Given the description of an element on the screen output the (x, y) to click on. 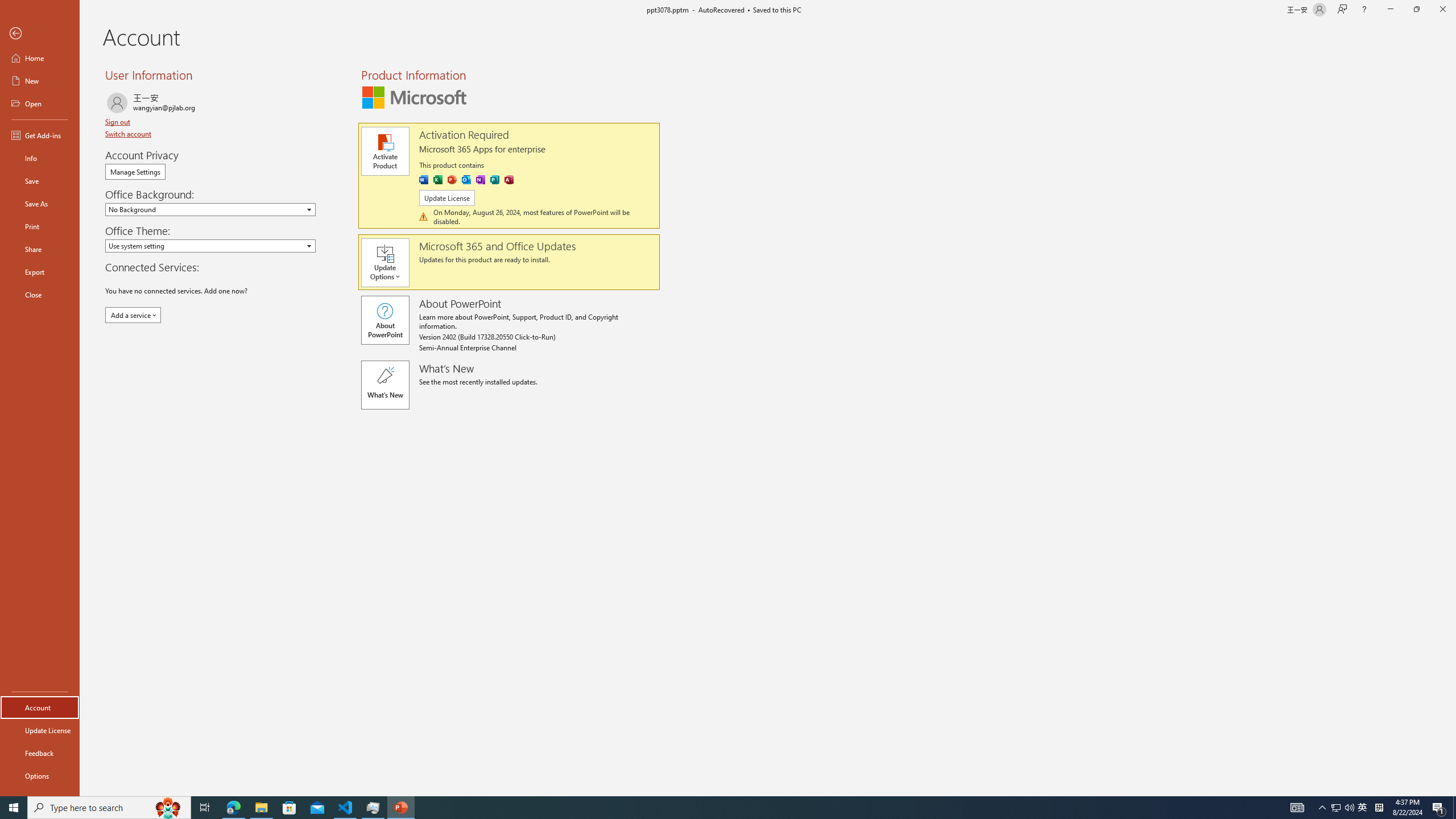
Asian Layout (568, 77)
Text Effects and Typography (252, 102)
Clear Formatting (328, 77)
Phonetic Guide... (350, 77)
Styles (1025, 107)
Font Color (323, 102)
